Given the description of an element on the screen output the (x, y) to click on. 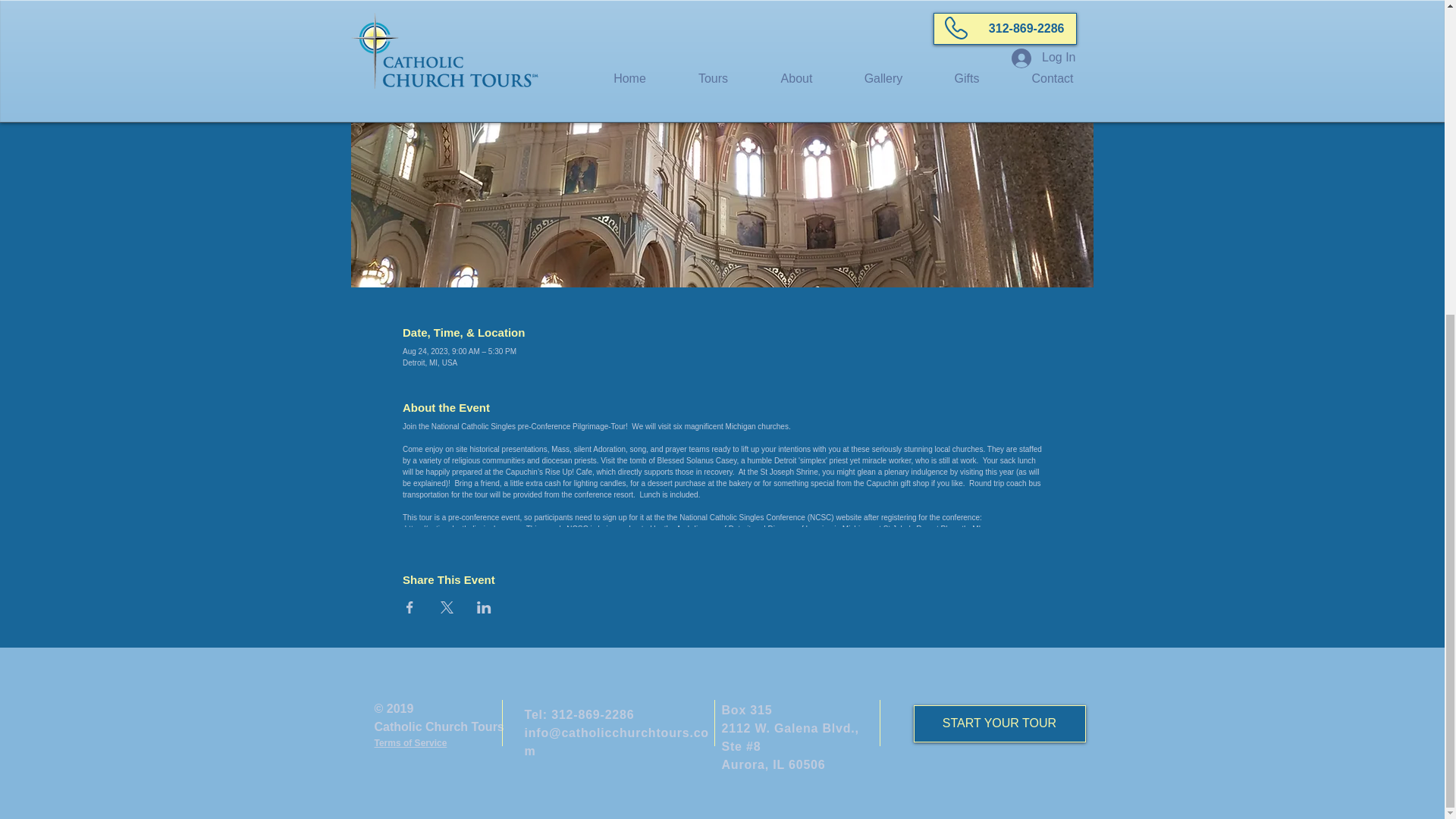
START YOUR TOUR (998, 723)
Terms of Service (410, 742)
